Given the description of an element on the screen output the (x, y) to click on. 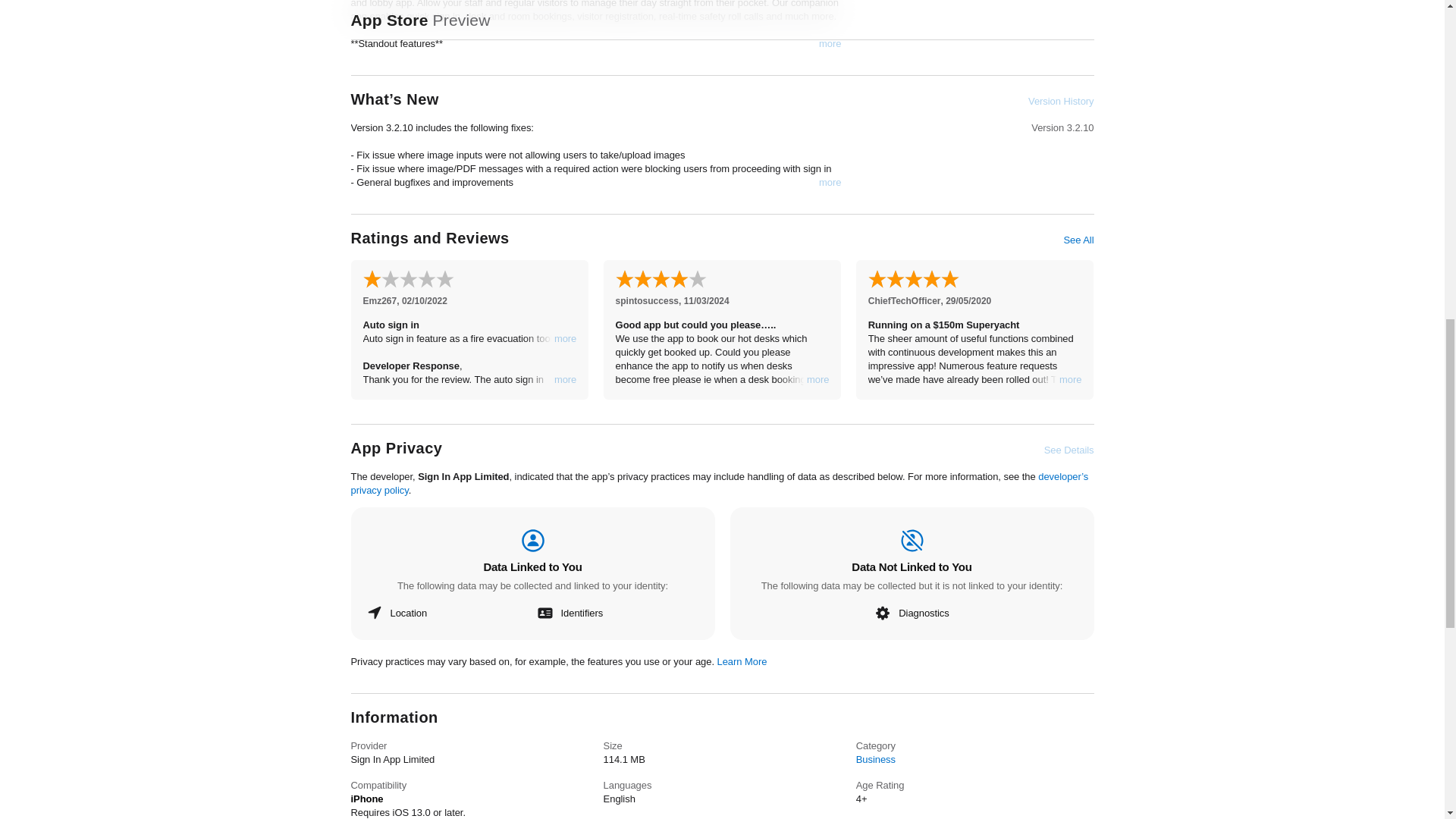
more (565, 379)
more (565, 338)
more (829, 182)
Business (875, 758)
more (1070, 379)
more (829, 43)
See Details (1068, 450)
more (817, 379)
Learn More (742, 660)
Version History (1060, 101)
